Given the description of an element on the screen output the (x, y) to click on. 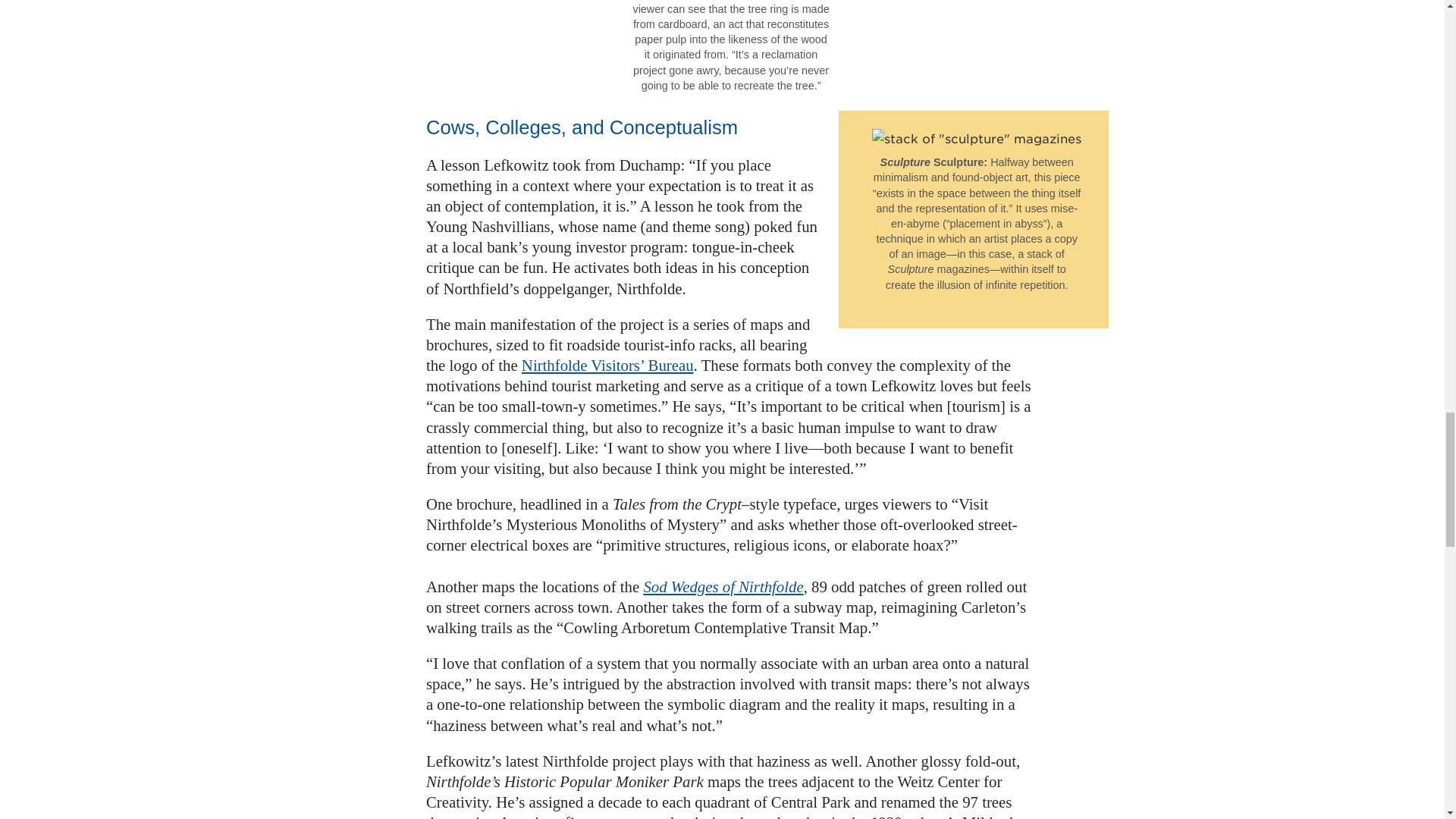
Sod Wedges of Nirthfolde (723, 586)
